Given the description of an element on the screen output the (x, y) to click on. 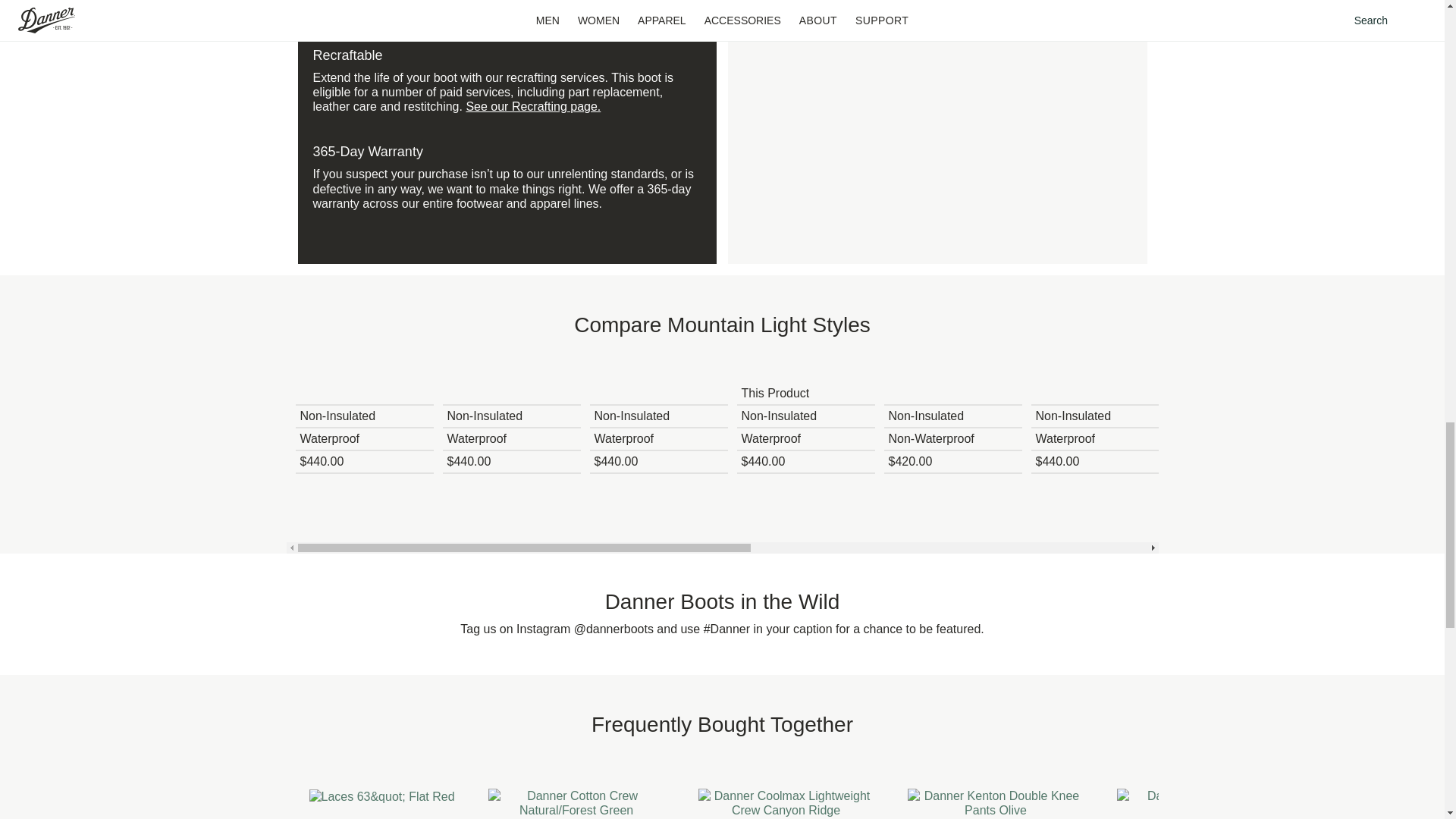
View  (364, 371)
